Given the description of an element on the screen output the (x, y) to click on. 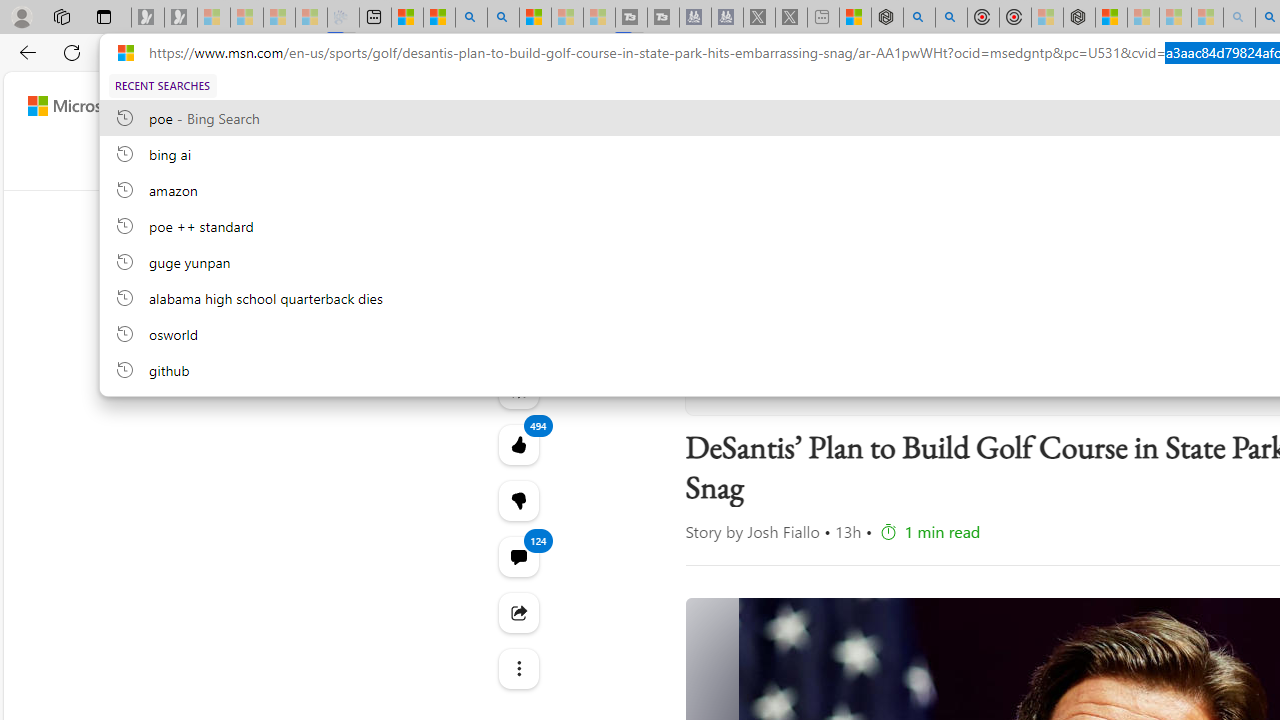
Cricket (1243, 162)
More like this494Fewer like thisView comments (517, 500)
Ad (1103, 280)
NHL (917, 162)
X - Sleeping (791, 17)
NHL (918, 162)
494 Like (517, 444)
The Daily Beast (785, 378)
Share this story (517, 612)
Skip to content (86, 105)
